Given the description of an element on the screen output the (x, y) to click on. 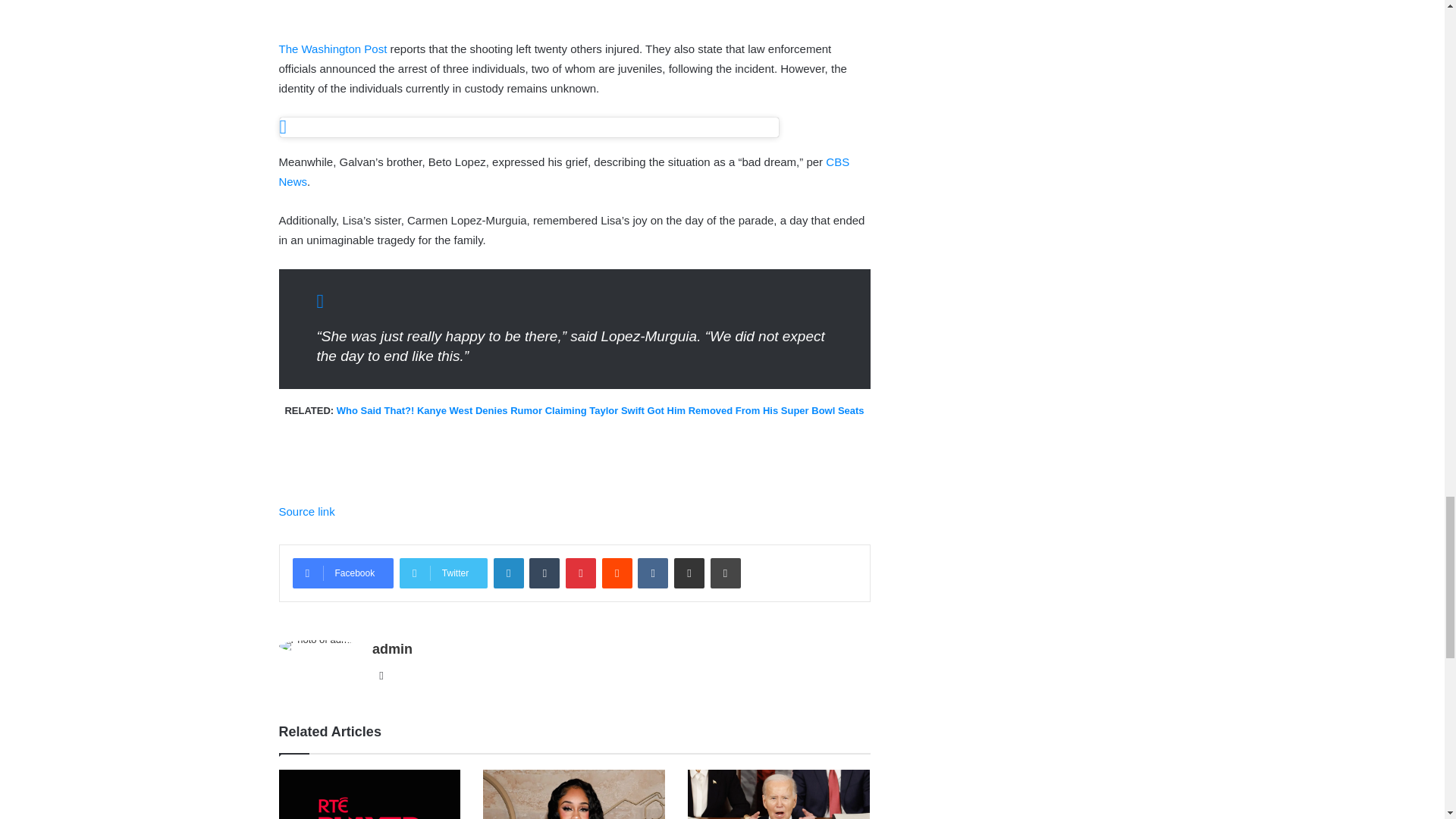
Facebook (343, 572)
LinkedIn (508, 572)
Pinterest (580, 572)
Source link (306, 511)
Facebook (343, 572)
The Washington Post (333, 48)
Pinterest (580, 572)
LinkedIn (508, 572)
Reddit (616, 572)
Tumblr (544, 572)
Share via Email (689, 572)
Tumblr (544, 572)
Reddit (616, 572)
VKontakte (652, 572)
